Given the description of an element on the screen output the (x, y) to click on. 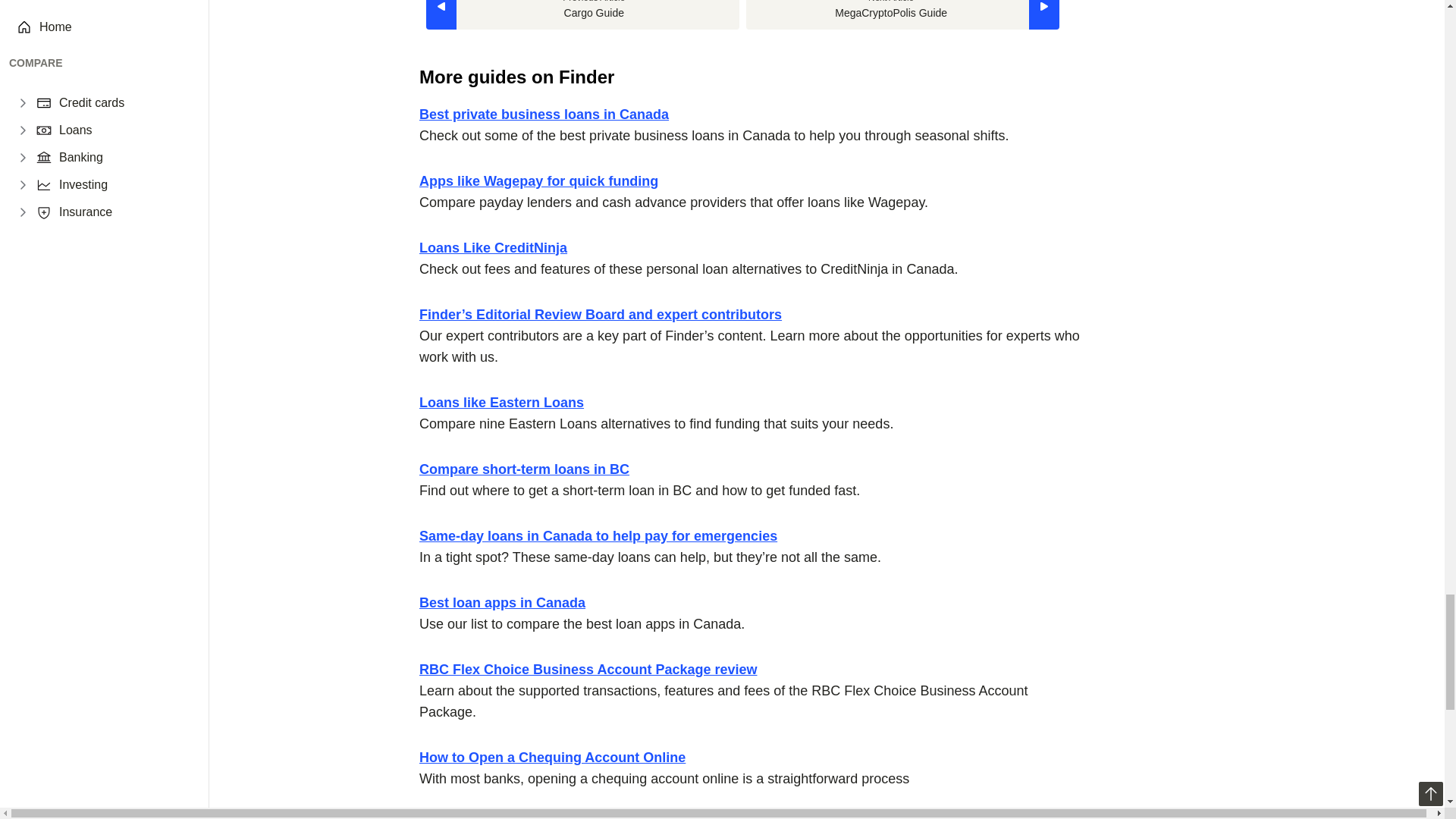
MegaCryptoPolis Guide (902, 14)
Cargo Guide (582, 14)
